Given the description of an element on the screen output the (x, y) to click on. 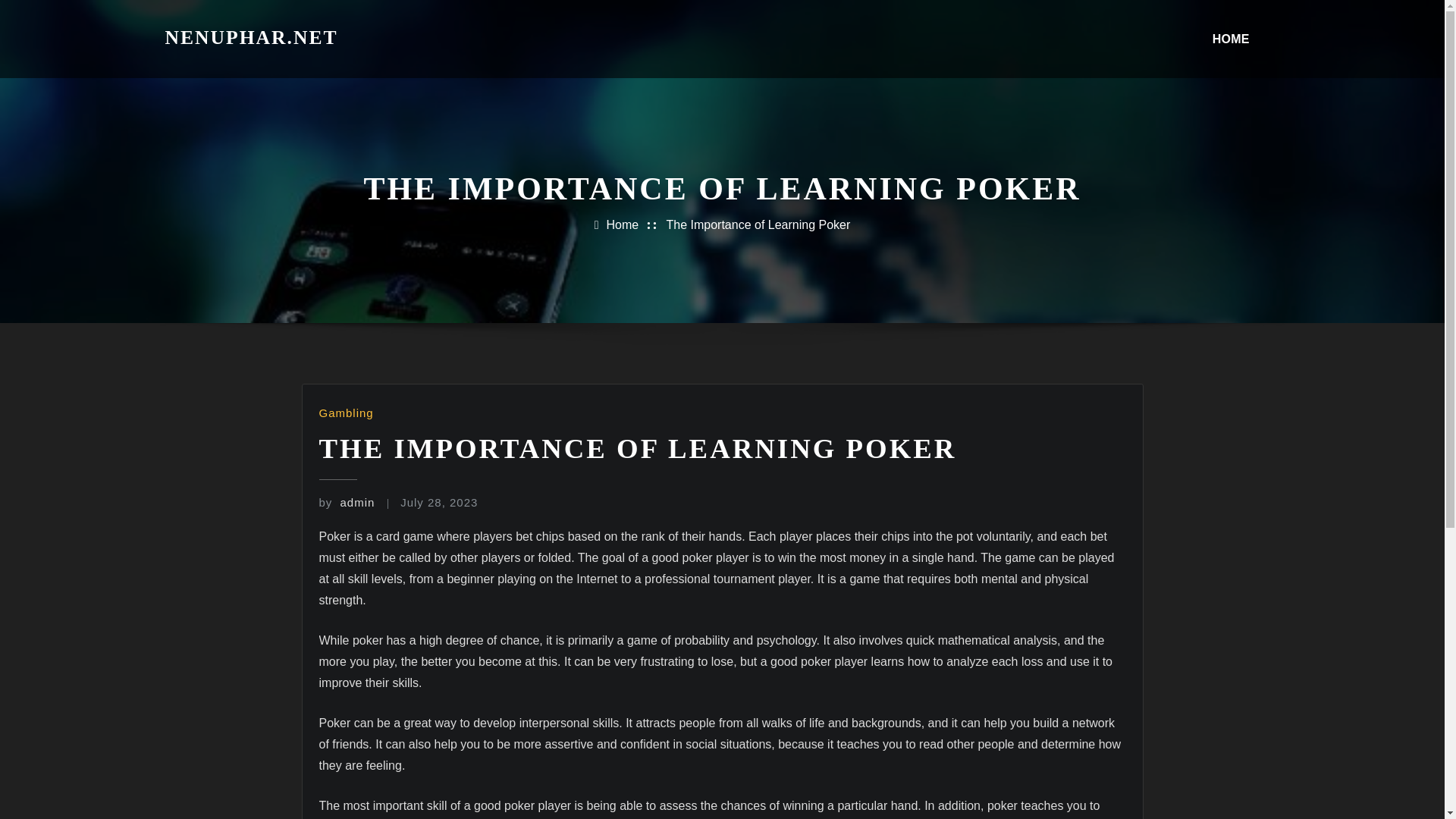
Home (623, 224)
The Importance of Learning Poker (757, 224)
by admin (346, 502)
July 28, 2023 (438, 502)
NENUPHAR.NET (251, 37)
Gambling (345, 412)
